Given the description of an element on the screen output the (x, y) to click on. 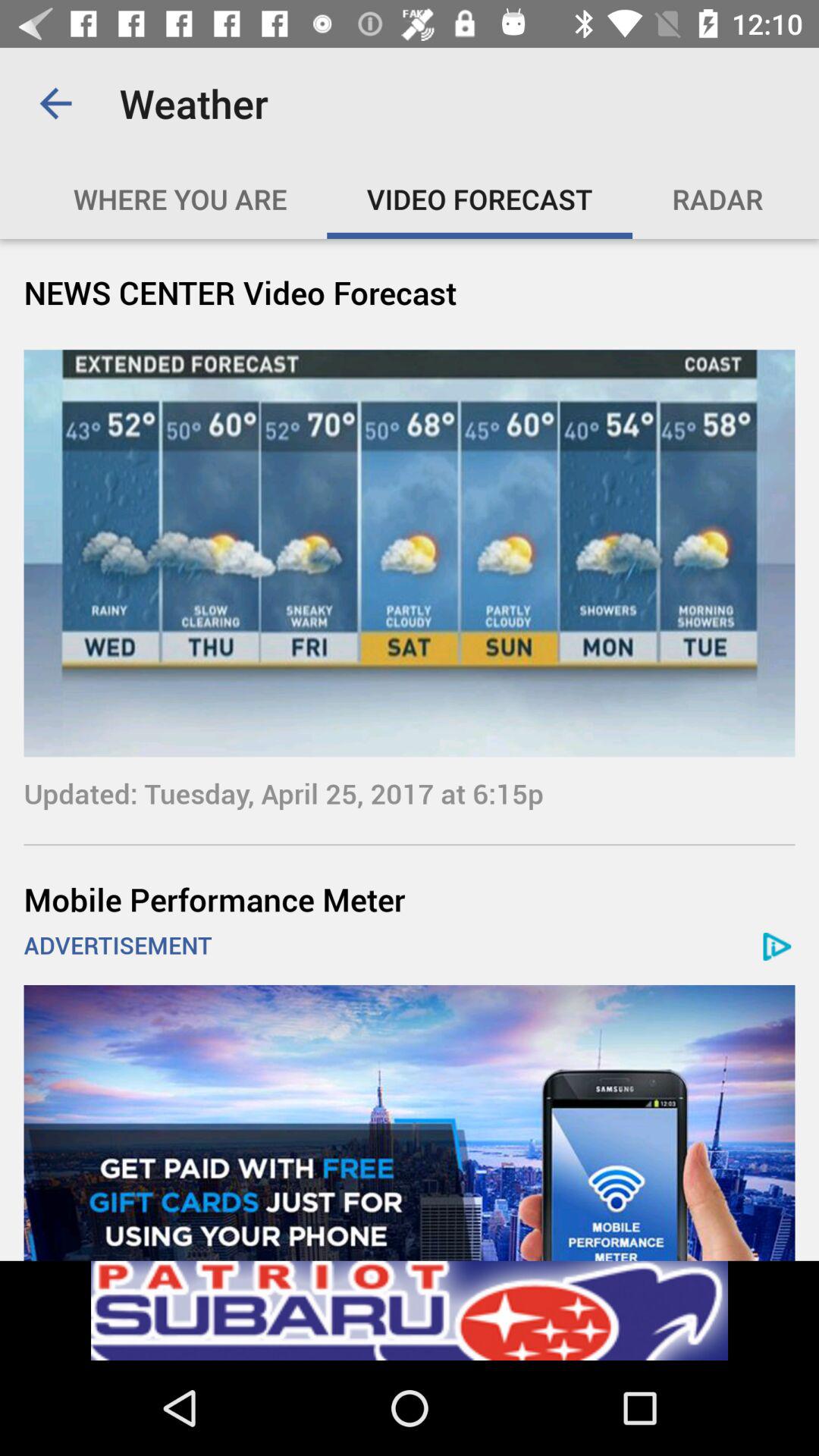
try this app (409, 1310)
